Given the description of an element on the screen output the (x, y) to click on. 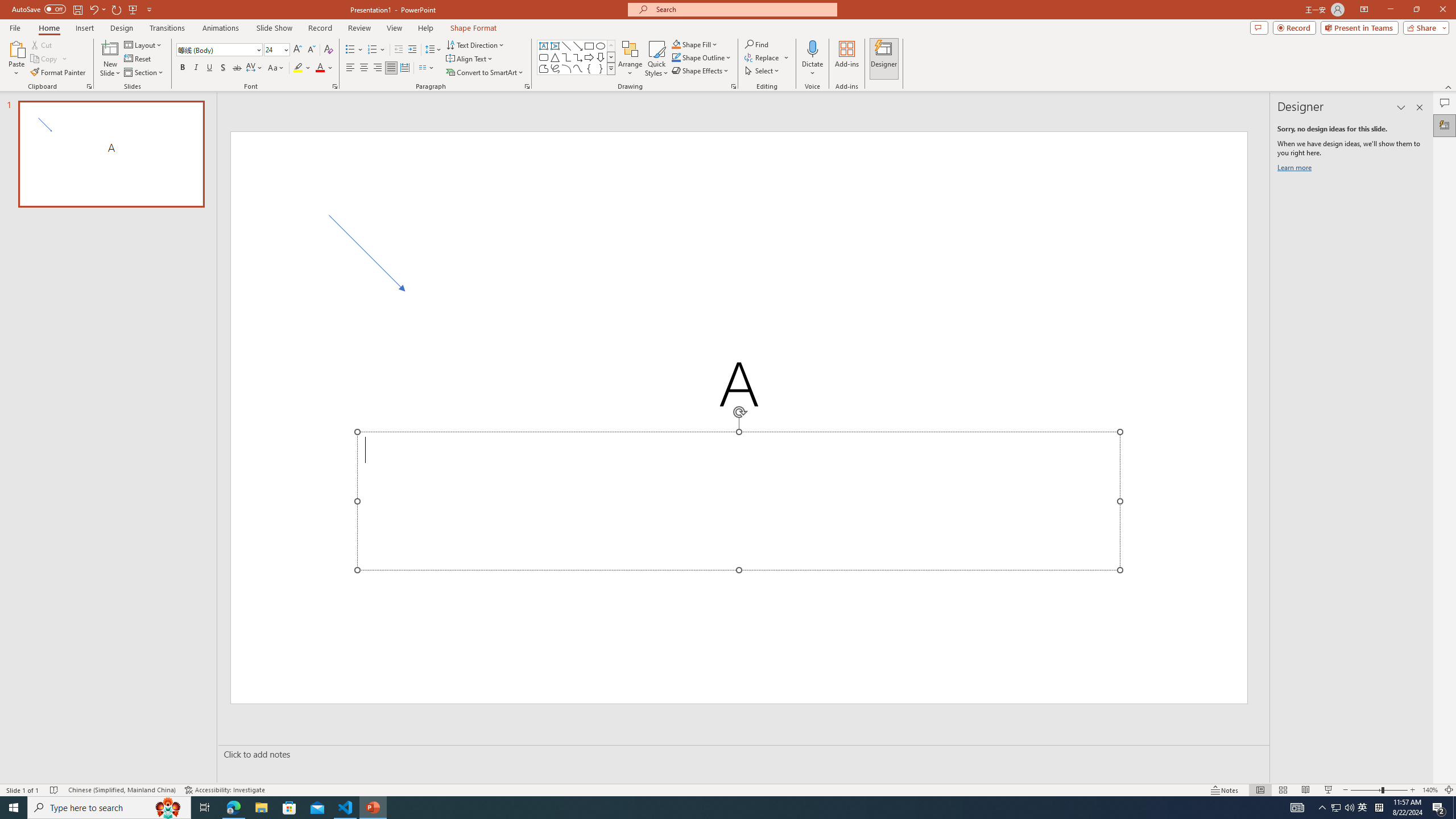
Shape Effects (700, 69)
